Given the description of an element on the screen output the (x, y) to click on. 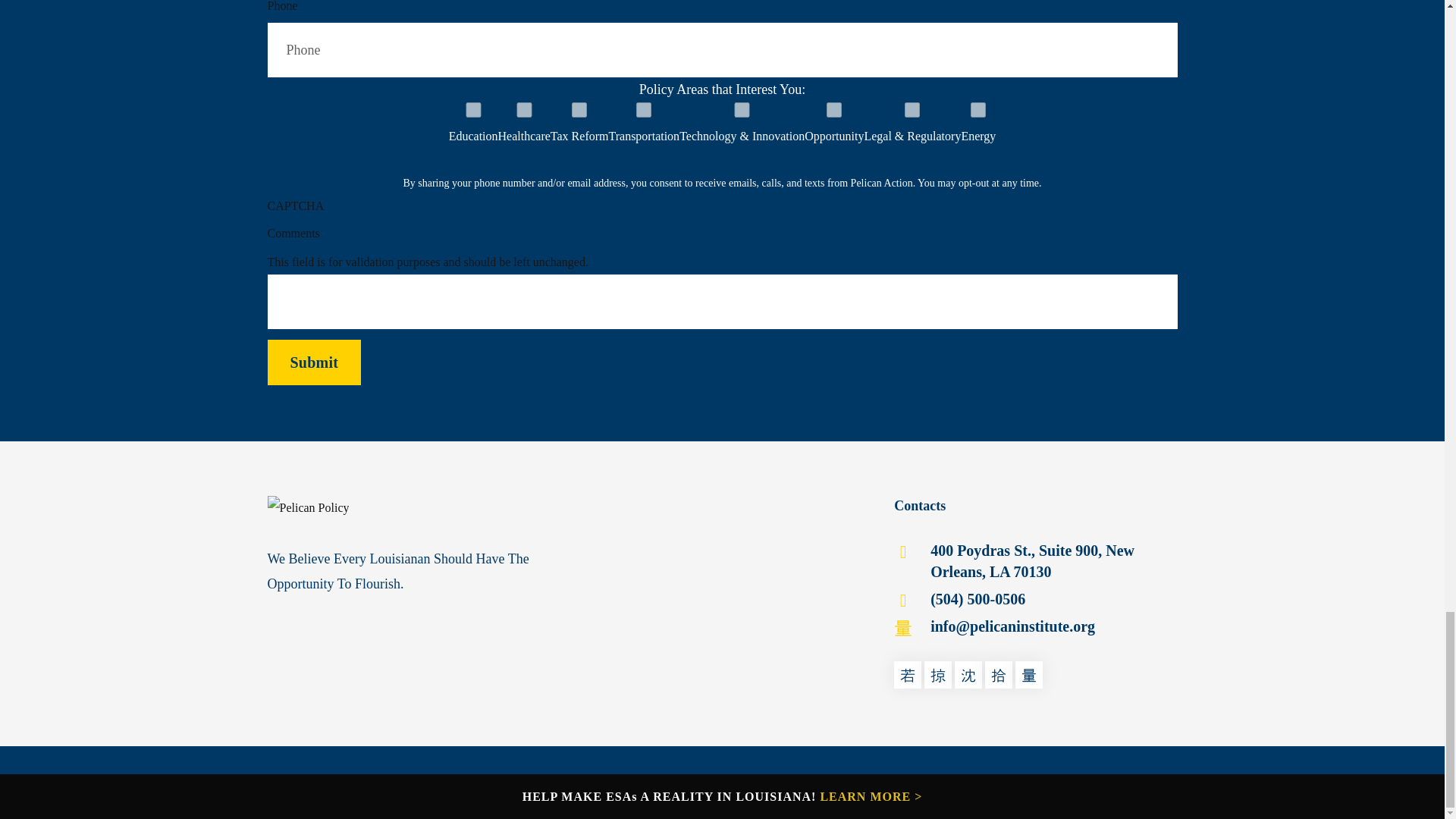
Education (472, 109)
Tax Reform (579, 109)
Energy (977, 109)
Submit (313, 361)
Healthcare (523, 109)
Opportunity (834, 109)
Transportation (643, 109)
